Given the description of an element on the screen output the (x, y) to click on. 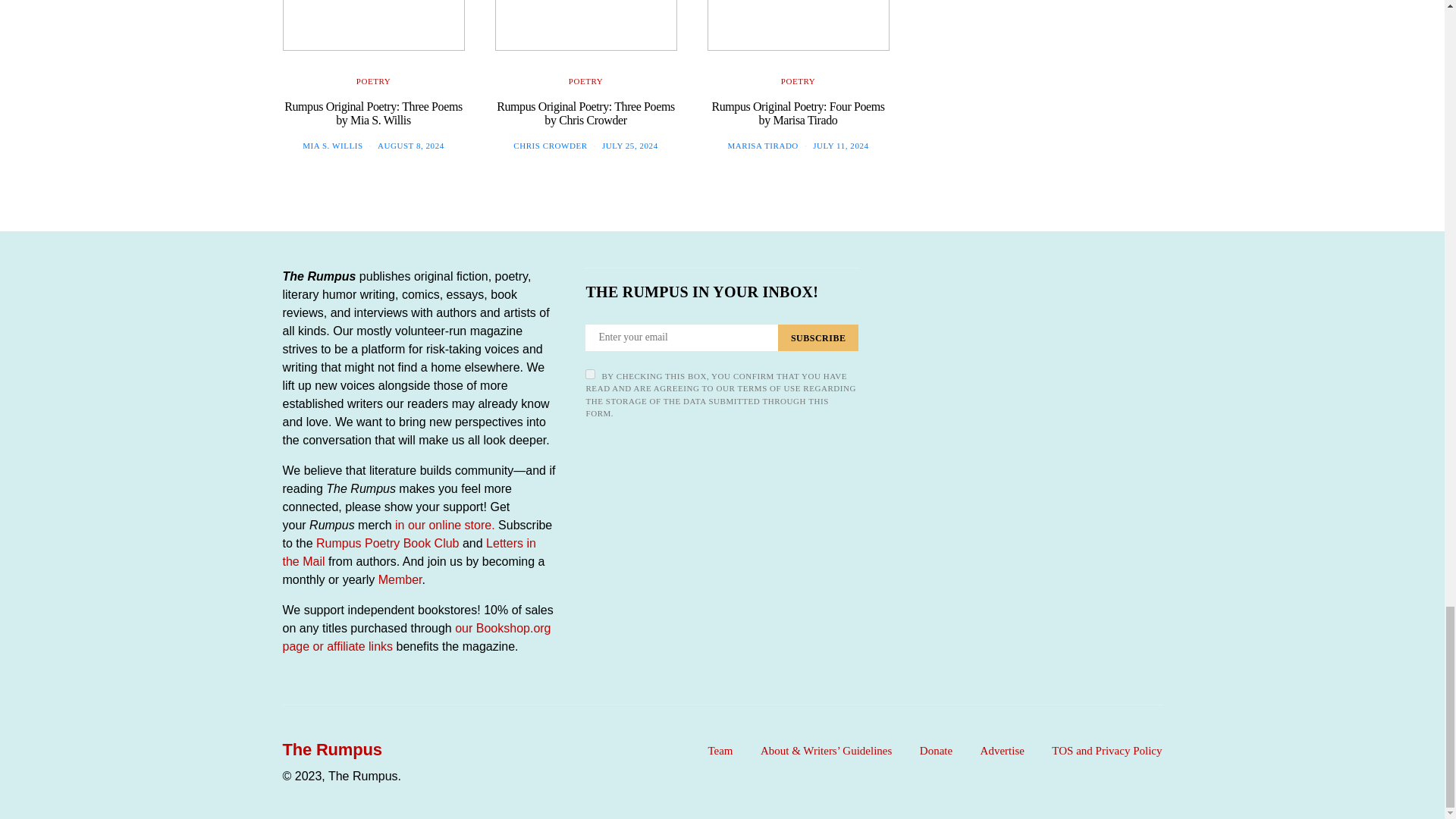
3rd party ad content (1047, 99)
View all posts by Marisa Tirado (761, 144)
View all posts by Mia S. Willis (332, 144)
View all posts by Chris Crowder (549, 144)
on (590, 374)
